Given the description of an element on the screen output the (x, y) to click on. 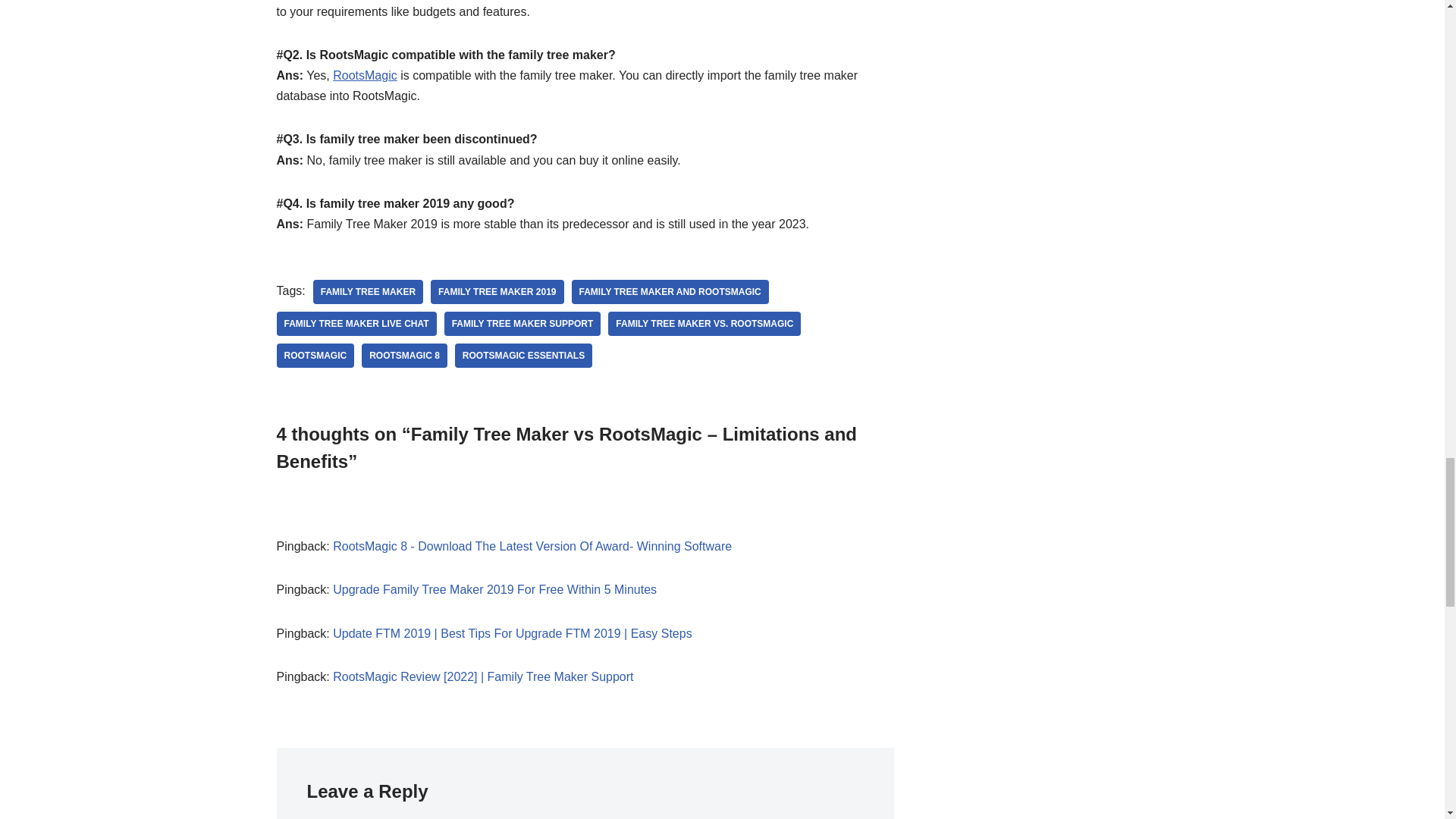
family tree maker 2019 (496, 291)
RootsMagic (364, 74)
family tree maker (368, 291)
